Given the description of an element on the screen output the (x, y) to click on. 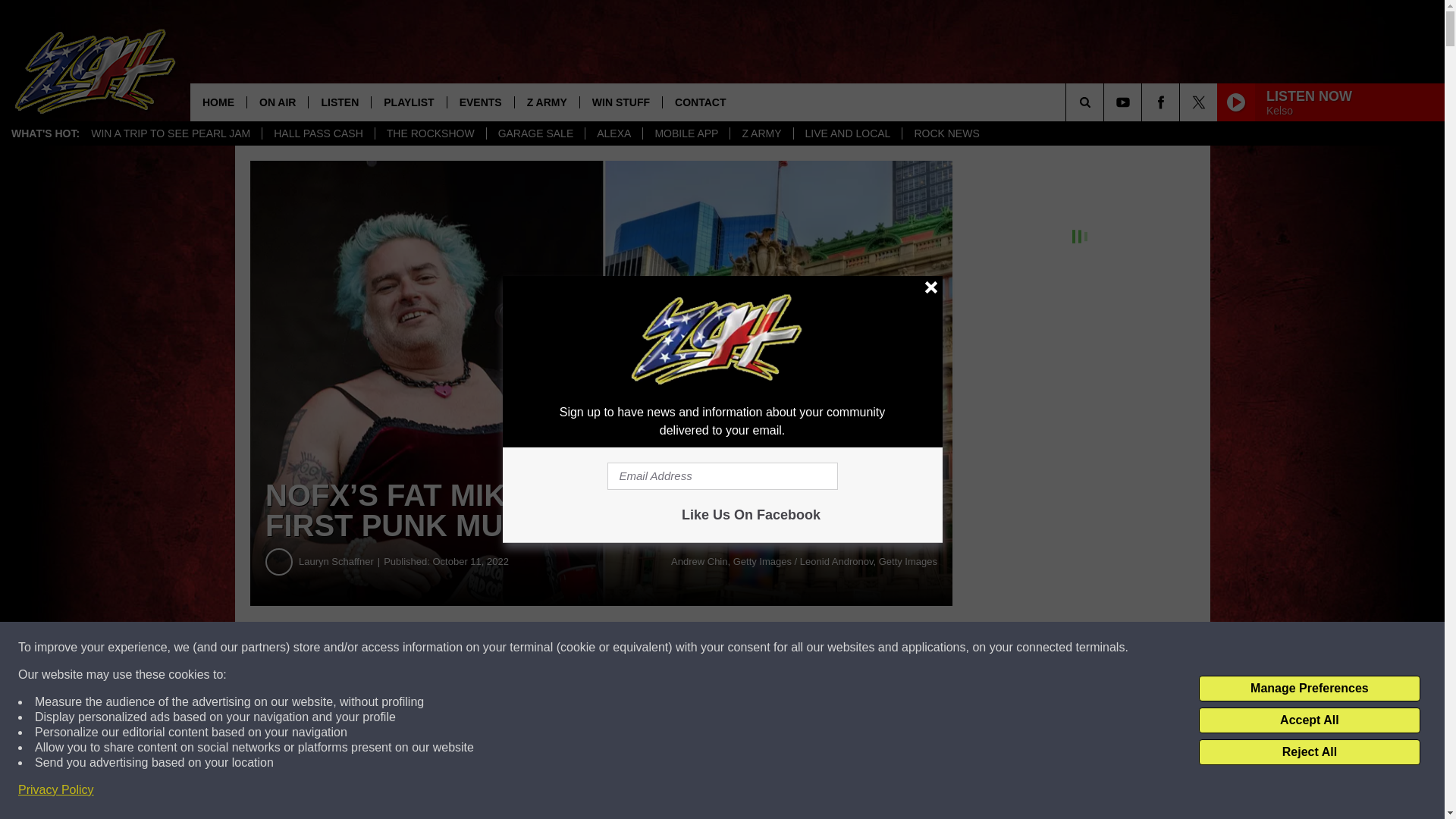
LISTEN (339, 102)
Accept All (1309, 720)
Privacy Policy (55, 789)
SEARCH (1106, 102)
Share on Facebook (460, 647)
GARAGE SALE (535, 133)
ROCK NEWS (945, 133)
Share on Twitter (741, 647)
Z ARMY (760, 133)
EVENTS (479, 102)
Z ARMY (546, 102)
ON AIR (276, 102)
Email Address (722, 475)
WIN A TRIP TO SEE PEARL JAM (171, 133)
Manage Preferences (1309, 688)
